Given the description of an element on the screen output the (x, y) to click on. 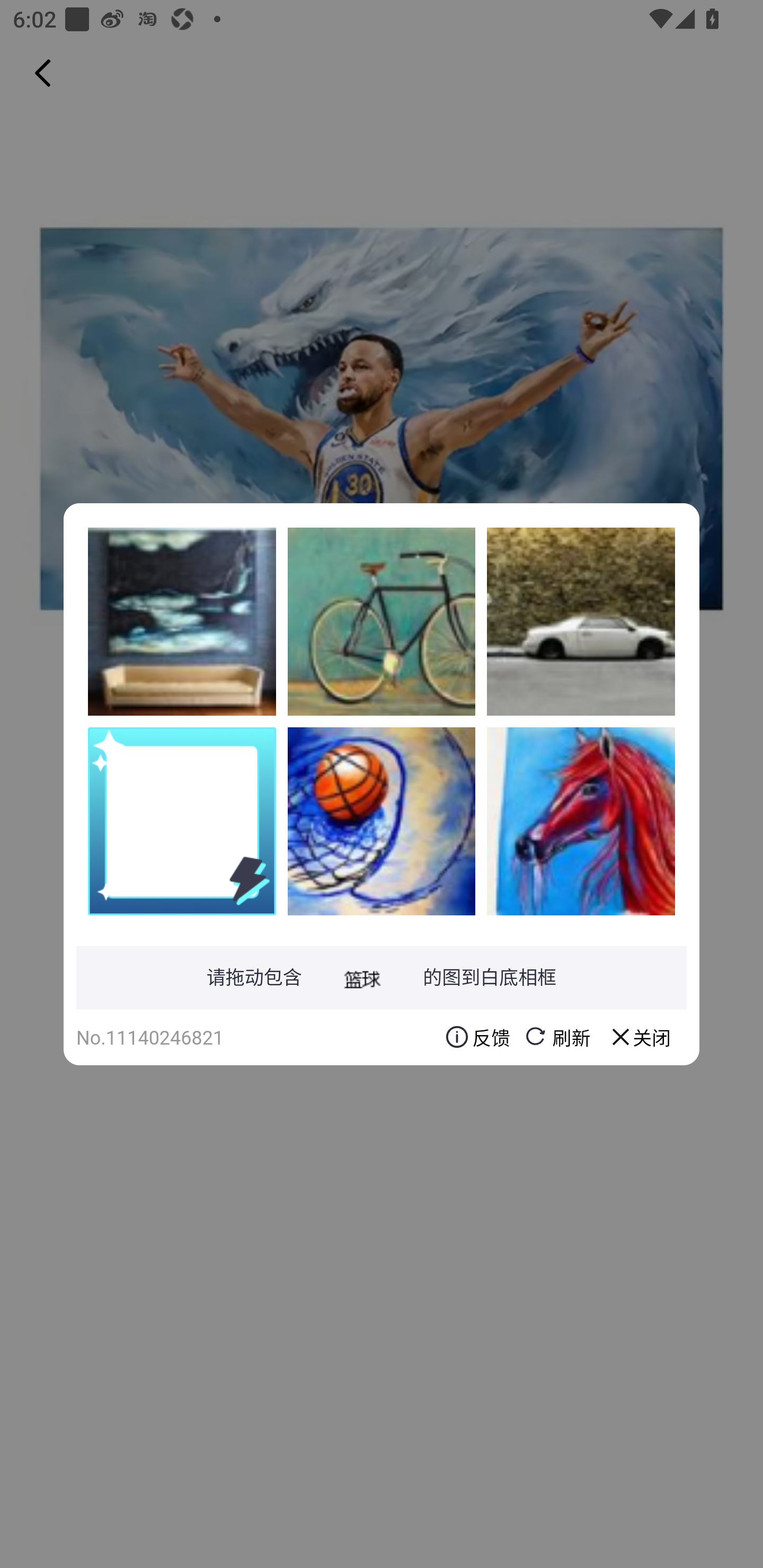
hE5H (181, 621)
mltJ1fi92y6dwaKUH+7lm07h9P5pbp3J0gicfqqbjsXUu6lQ (381, 820)
TgprY2Kt8gbvkHwS (580, 820)
